Given the description of an element on the screen output the (x, y) to click on. 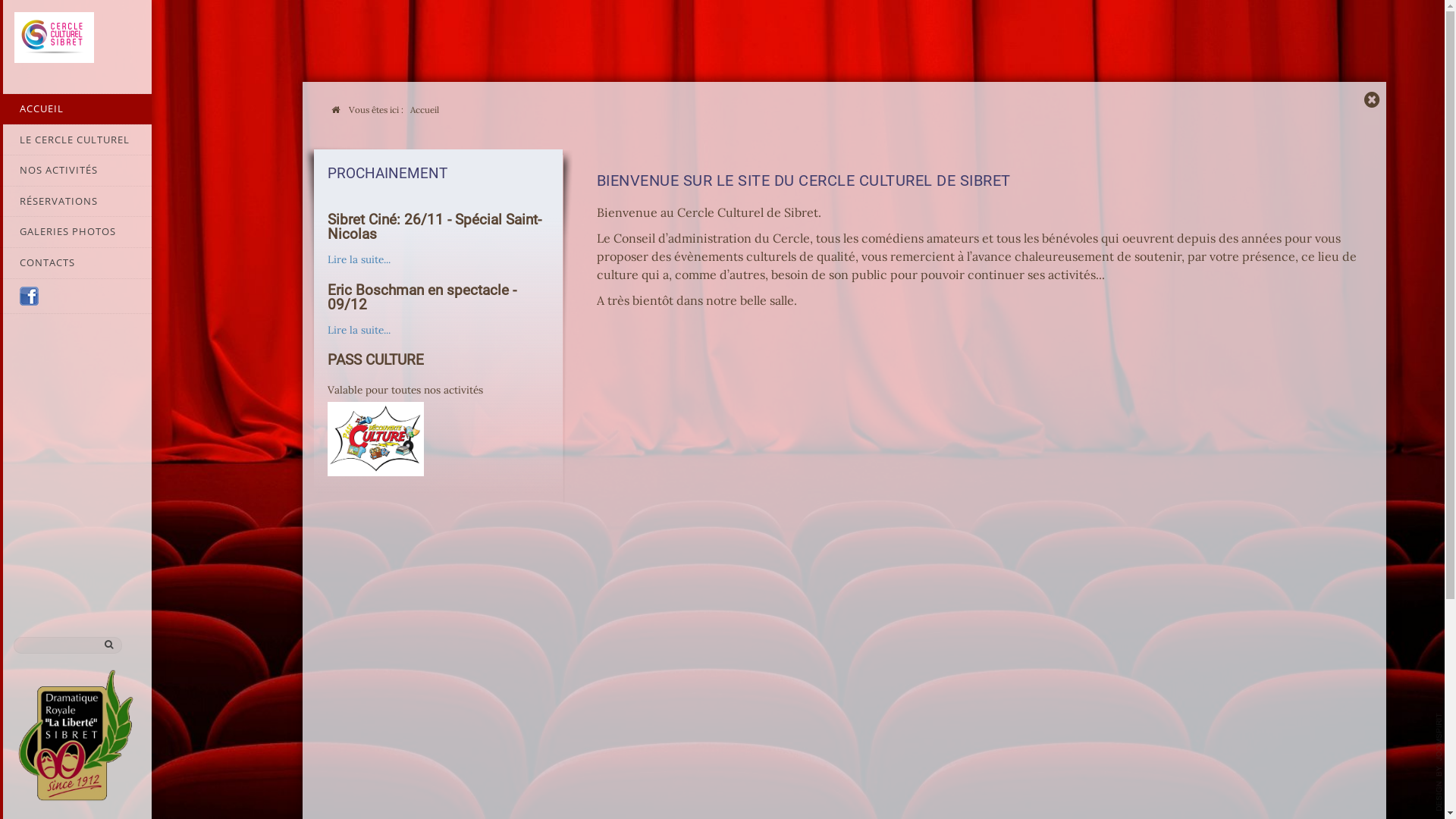
BIENVENUE SUR LE SITE DU CERCLE CULTUREL DE SIBRET Element type: text (803, 180)
LE CERCLE CULTUREL Element type: text (75, 140)
GALERIES PHOTOS Element type: text (75, 231)
template joomla Element type: text (1439, 761)
Lire la suite... Element type: text (358, 329)
Lire la suite... Element type: text (358, 259)
CONTACTS Element type: text (75, 262)
ACCUEIL Element type: text (75, 109)
